Given the description of an element on the screen output the (x, y) to click on. 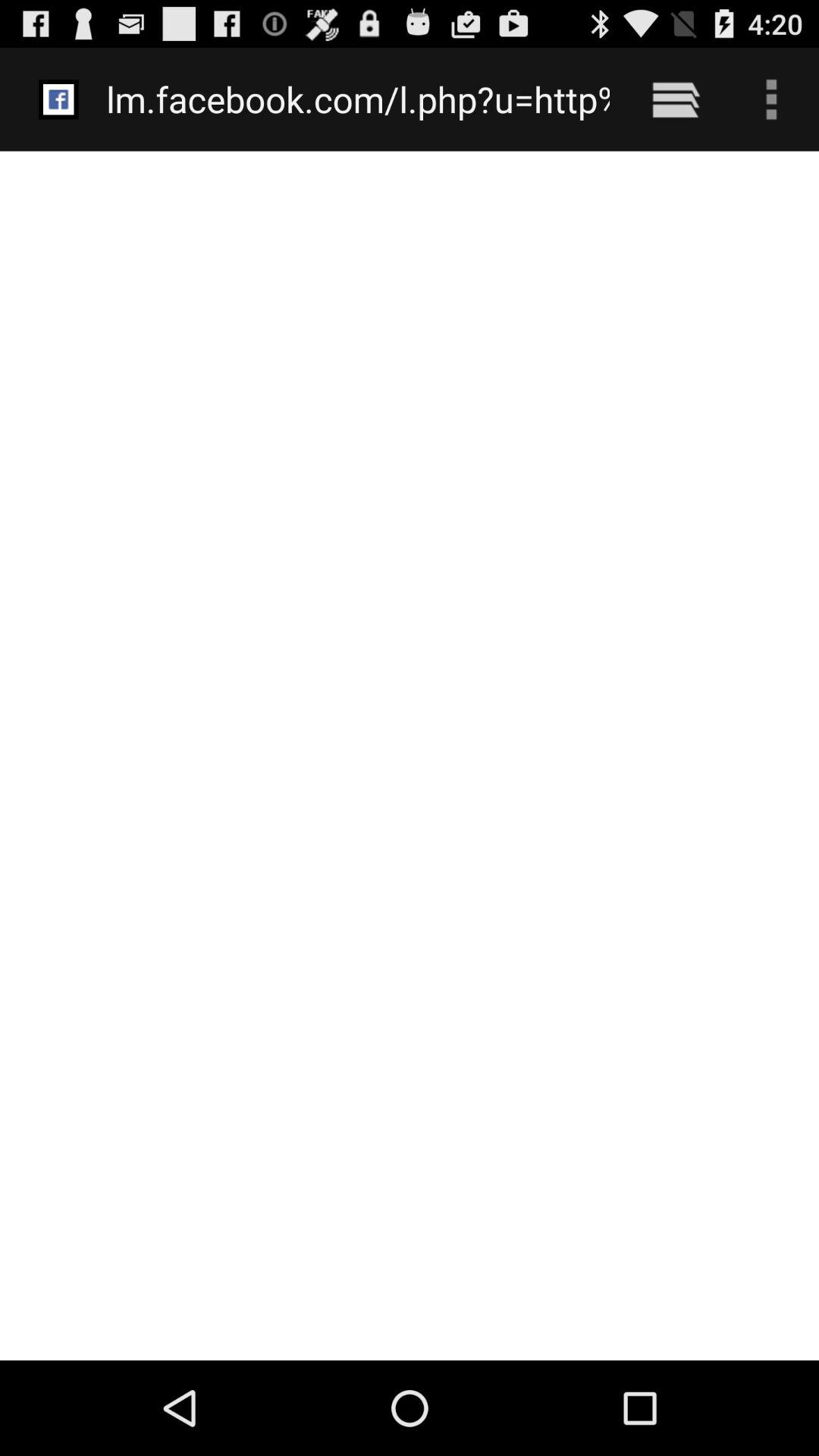
select the lm facebook com icon (357, 99)
